Given the description of an element on the screen output the (x, y) to click on. 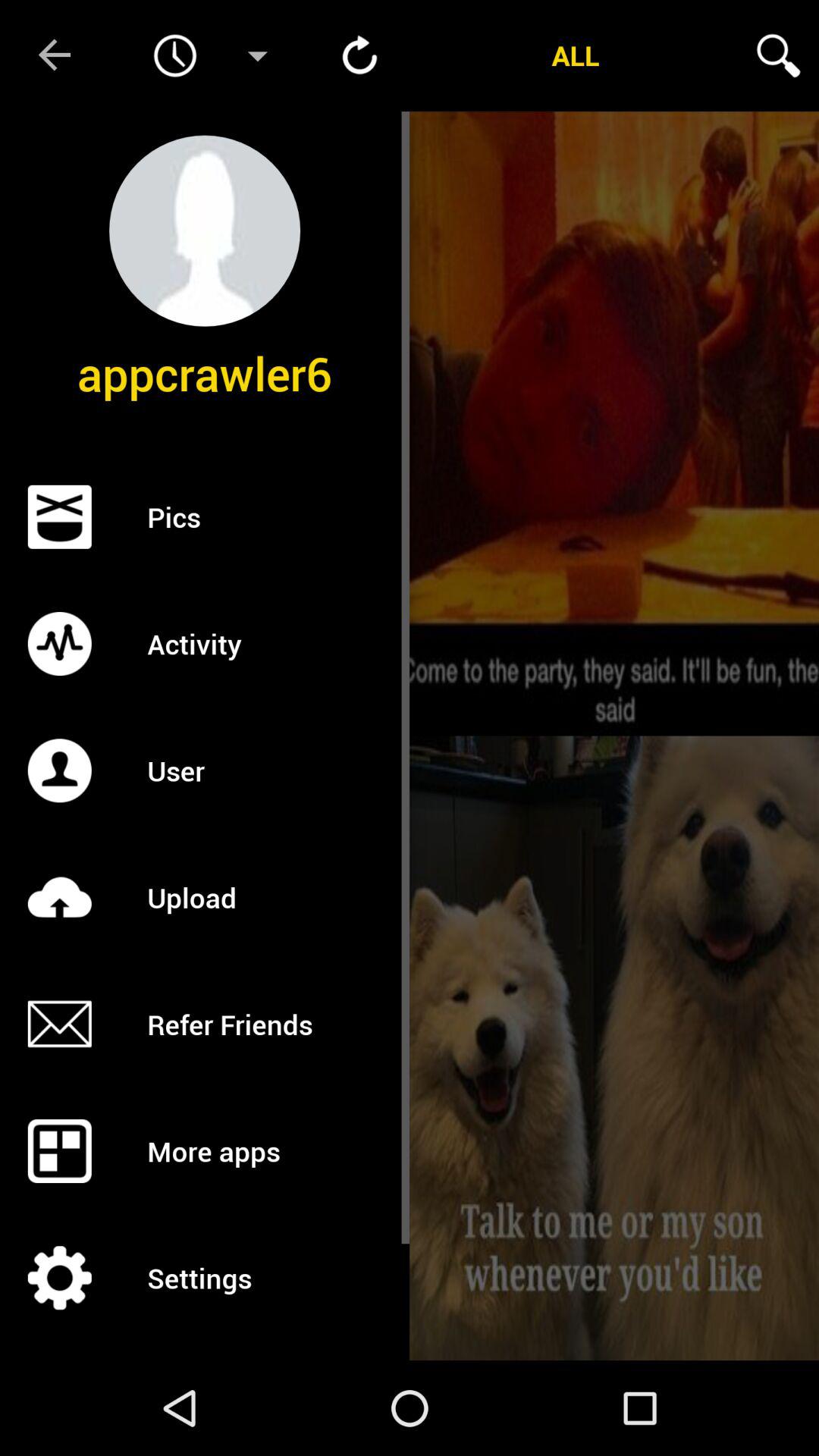
open the picture (614, 423)
